Given the description of an element on the screen output the (x, y) to click on. 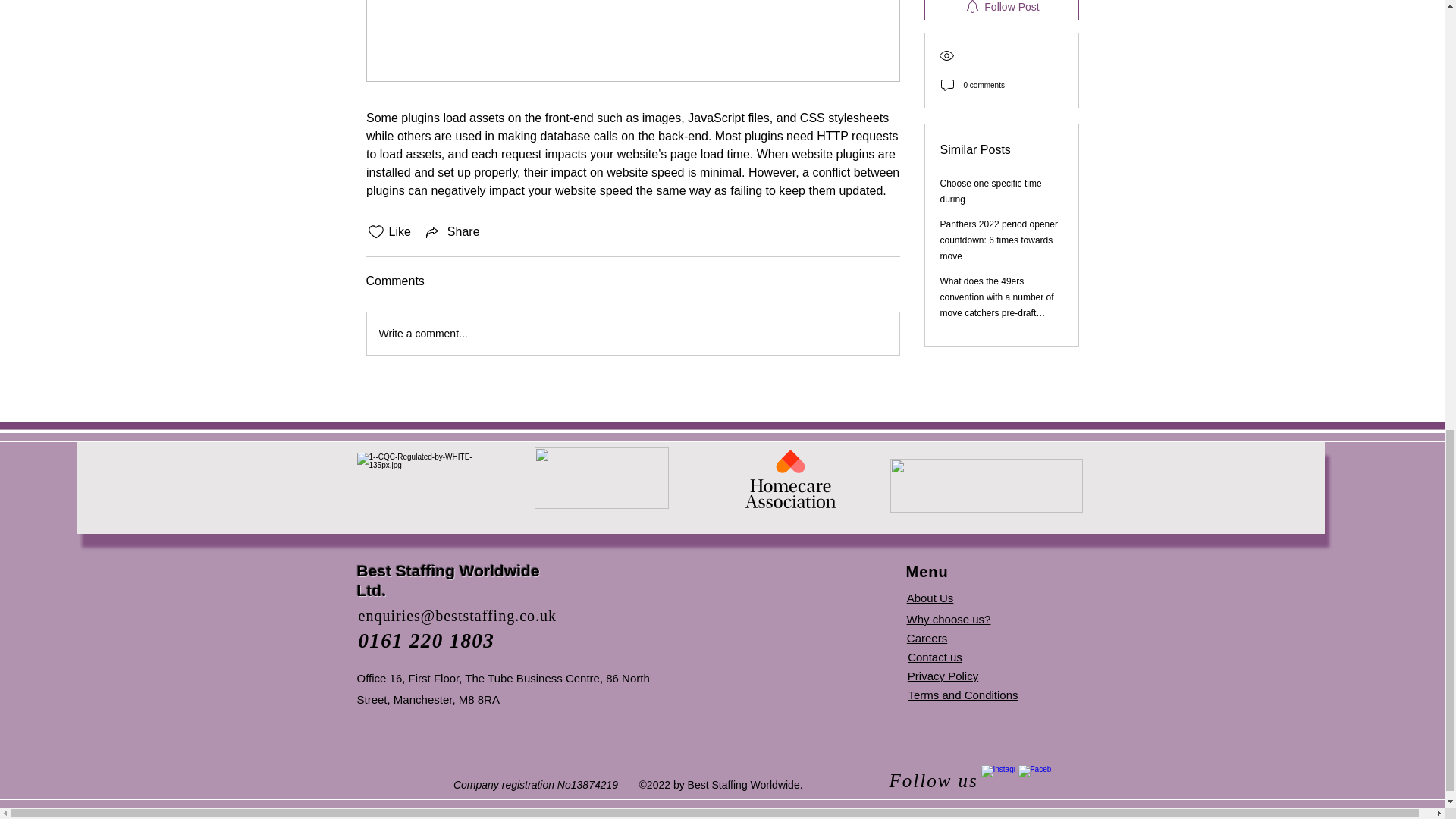
Terms and Conditions (962, 694)
About Us (930, 597)
Careers (927, 637)
Why choose us? (949, 618)
Contact us (934, 656)
Privacy Policy (942, 675)
Write a comment... (632, 333)
Registered-managers-membership.jpg (601, 477)
Home Office Logo.jpg (986, 485)
Share (451, 231)
